Given the description of an element on the screen output the (x, y) to click on. 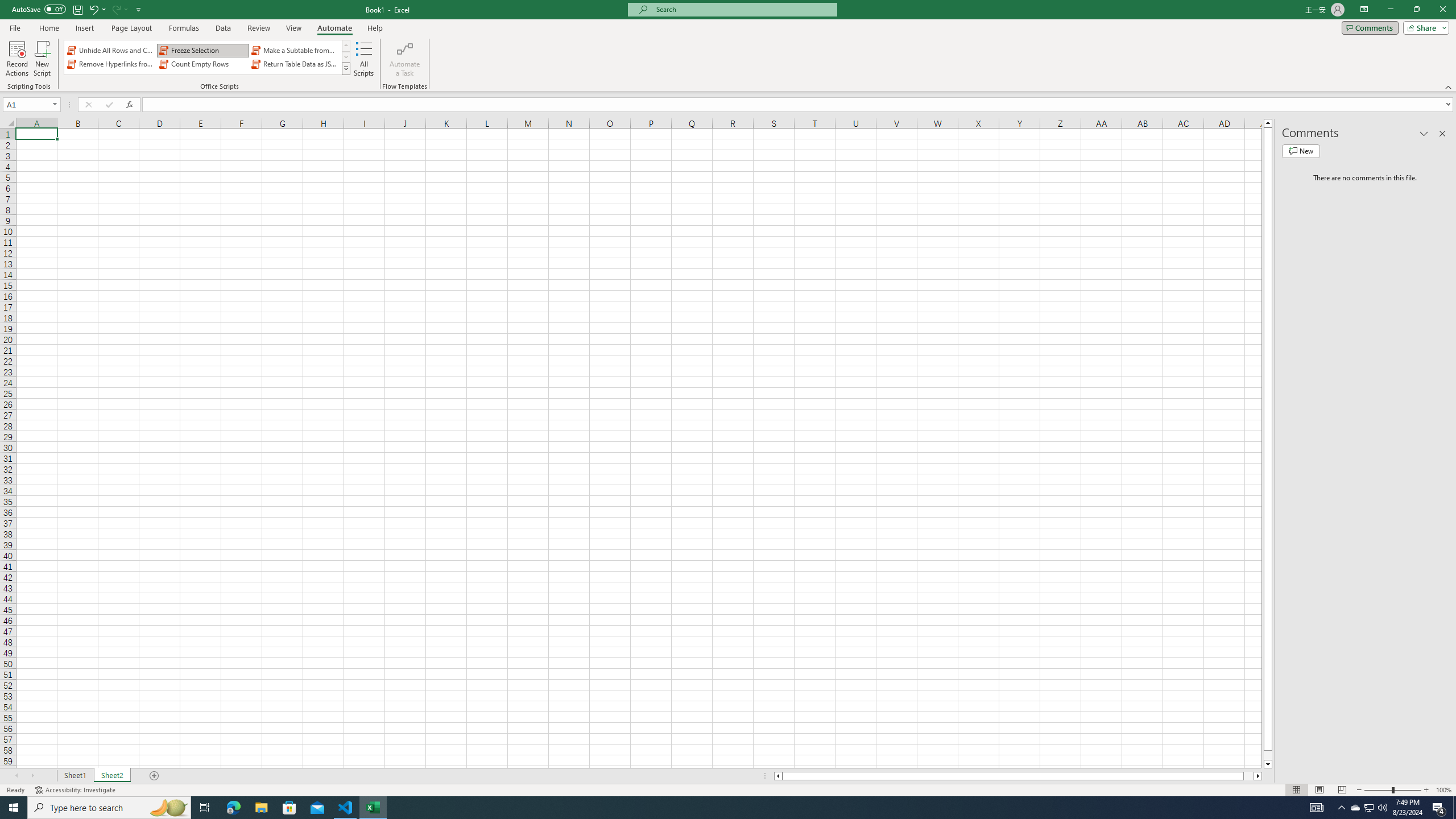
Office Scripts (346, 68)
Freeze Selection (202, 50)
Return Table Data as JSON (294, 64)
All Scripts (363, 58)
New Script (41, 58)
Make a Subtable from a Selection (294, 50)
